Given the description of an element on the screen output the (x, y) to click on. 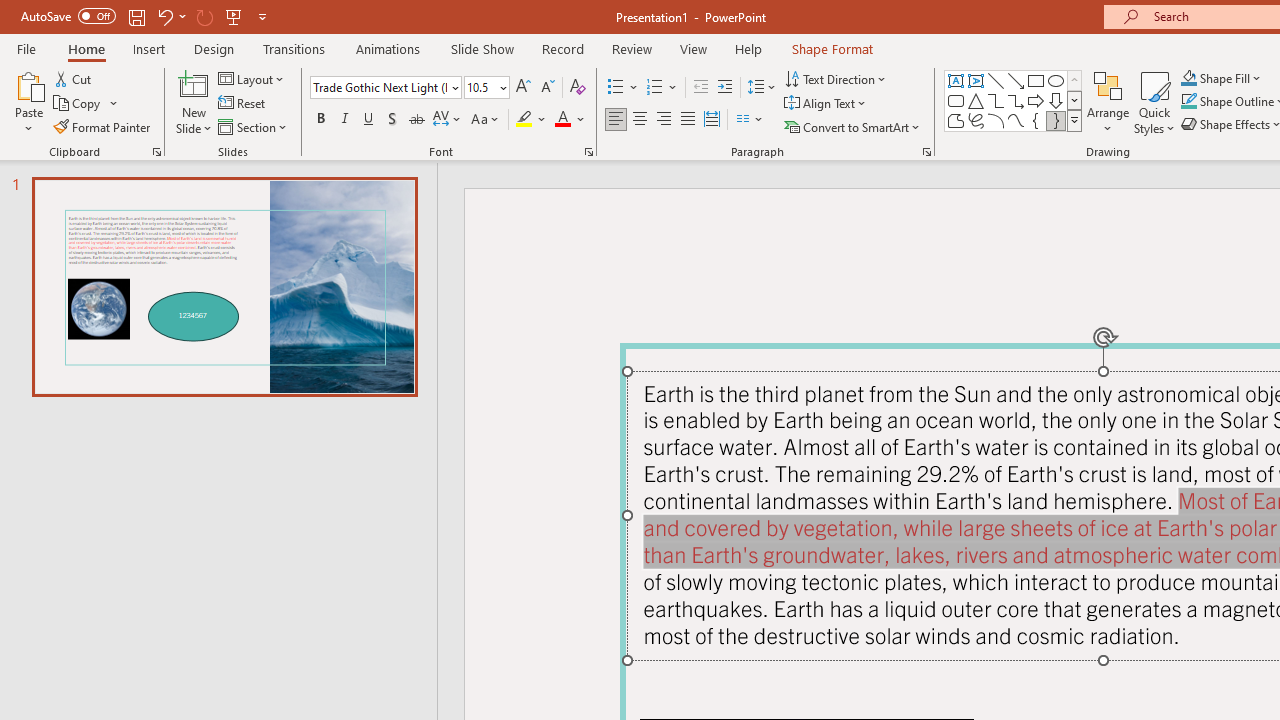
Arrange (1108, 102)
Text Box (955, 80)
Layout (252, 78)
Line (995, 80)
Align Left (616, 119)
Shadow (392, 119)
Text Direction (836, 78)
